Given the description of an element on the screen output the (x, y) to click on. 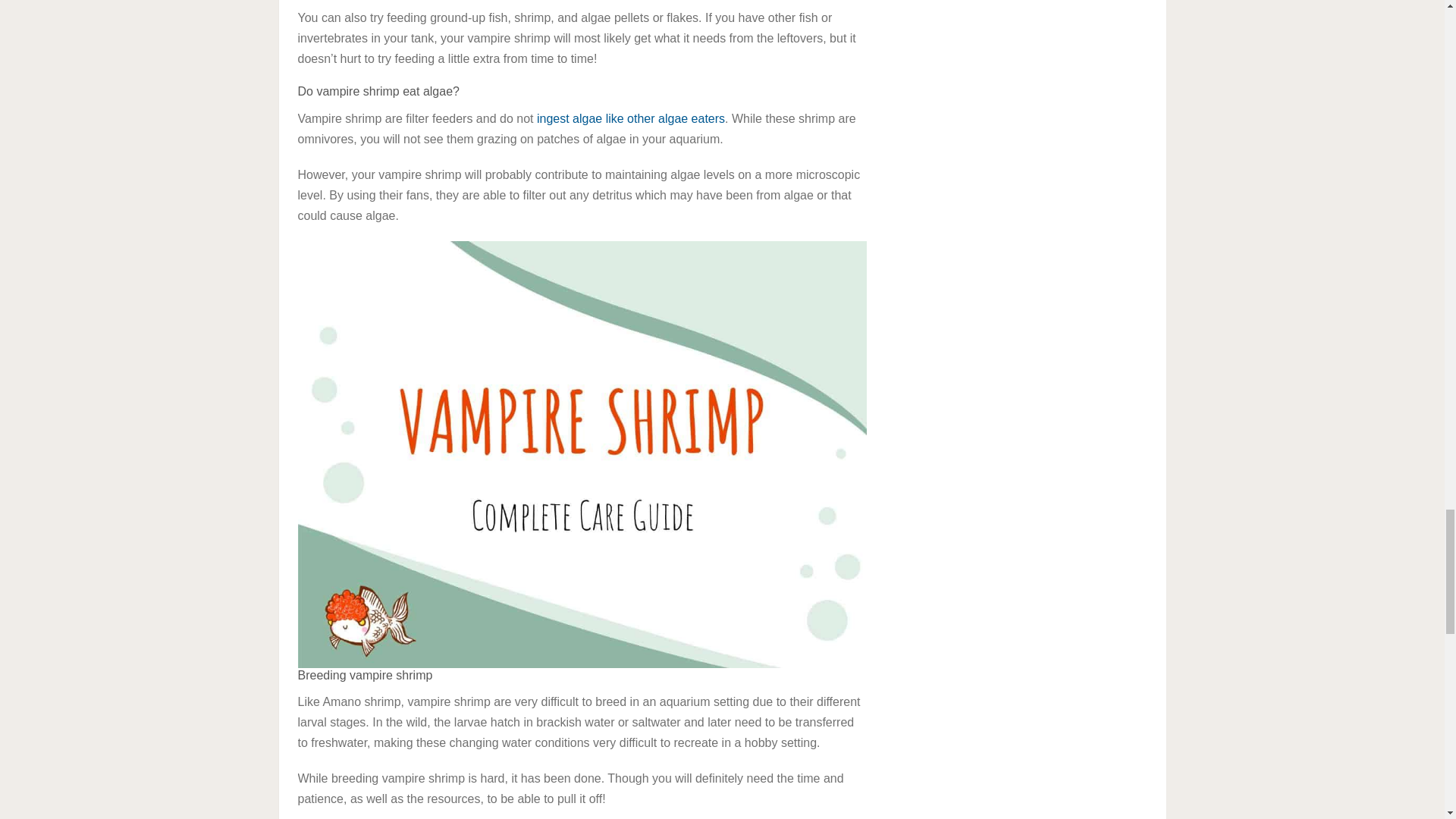
ingest algae like other algae eaters (631, 118)
